Given the description of an element on the screen output the (x, y) to click on. 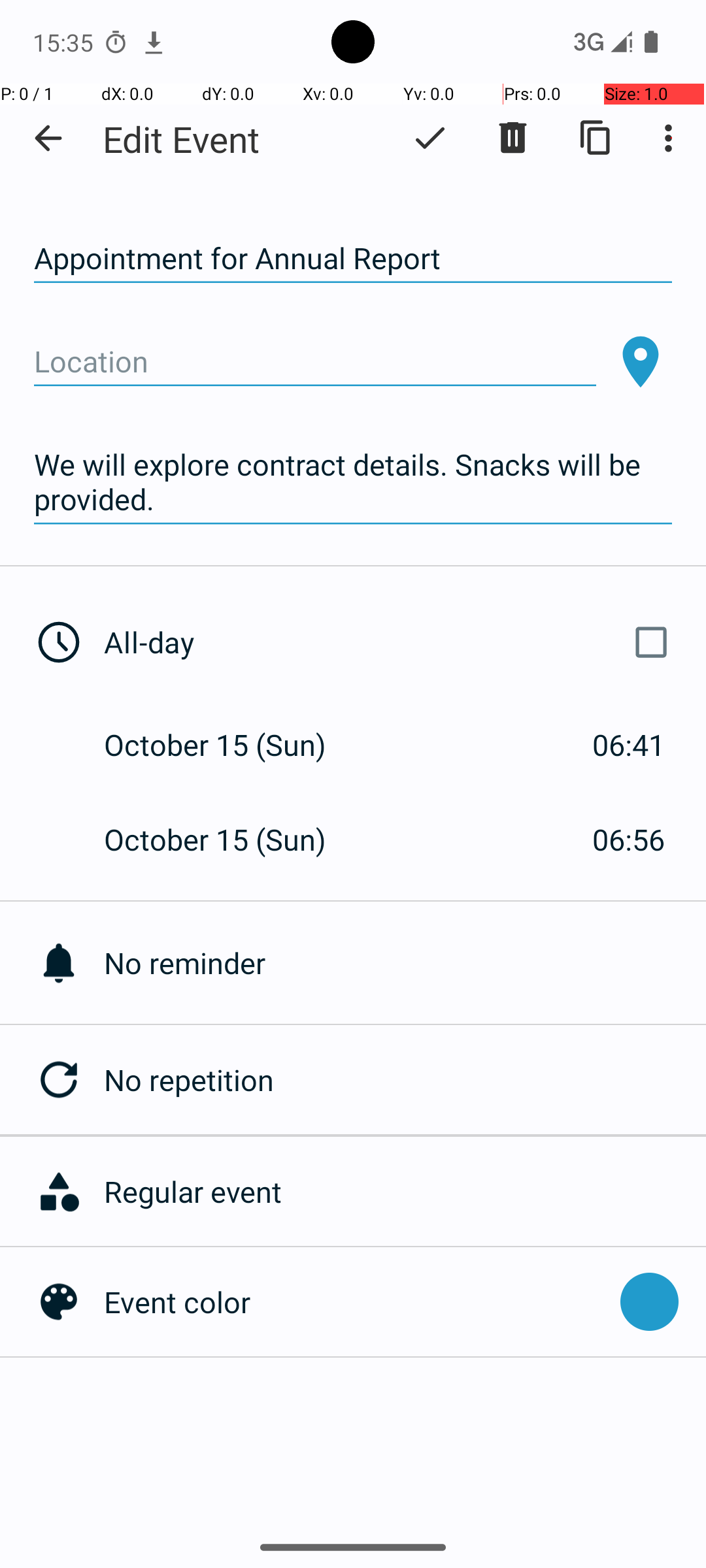
We will explore contract details. Snacks will be provided. Element type: android.widget.EditText (352, 482)
06:41 Element type: android.widget.TextView (628, 744)
06:56 Element type: android.widget.TextView (628, 838)
